Given the description of an element on the screen output the (x, y) to click on. 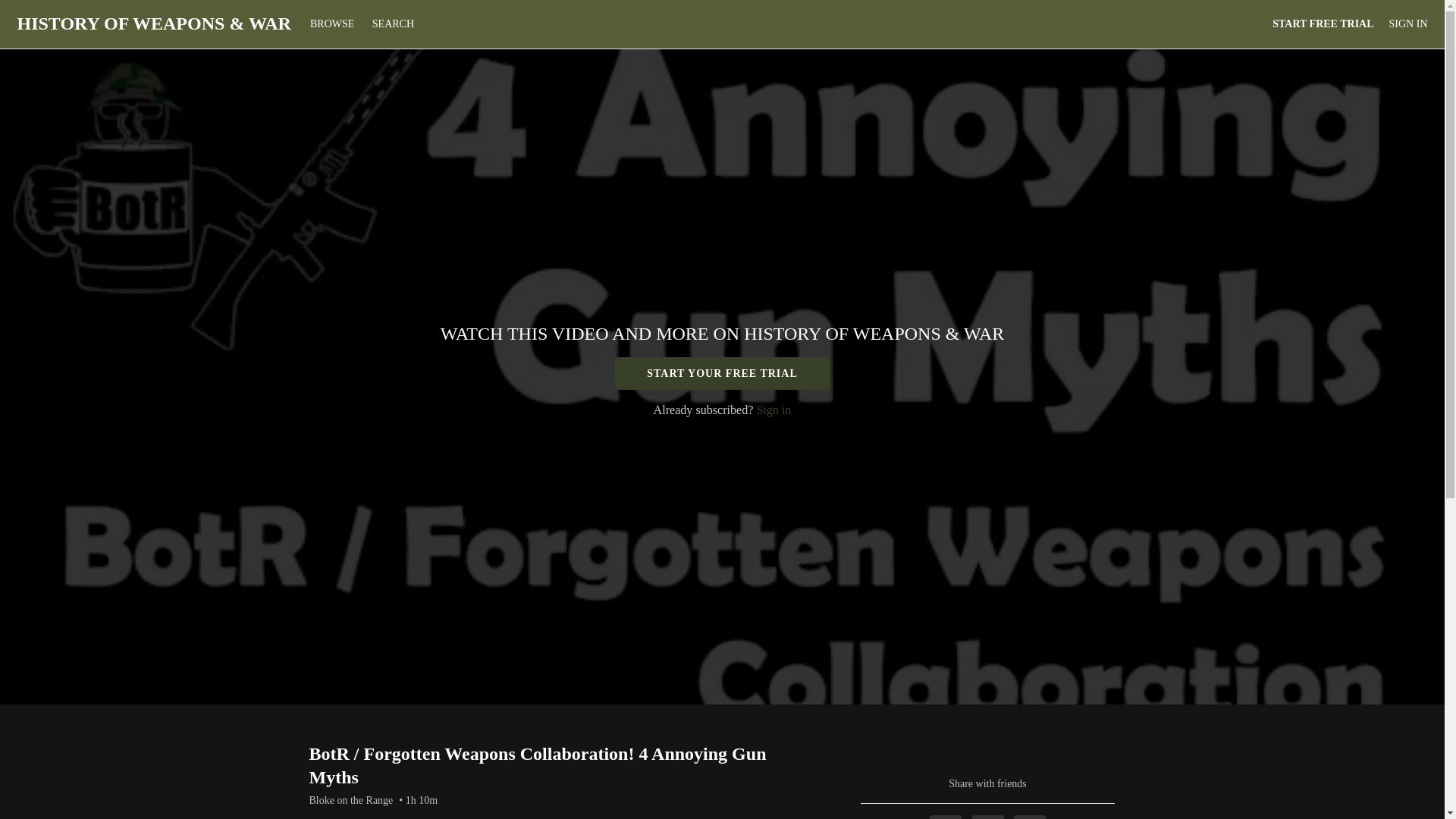
START FREE TRIAL (1322, 24)
START YOUR FREE TRIAL (721, 373)
Twitter (988, 816)
BROWSE (333, 23)
Bloke on the Range (350, 800)
Facebook (945, 816)
SIGN IN (1408, 24)
Skip to main content (43, 7)
SEARCH (393, 23)
Email (1029, 816)
Sign in (772, 409)
